Given the description of an element on the screen output the (x, y) to click on. 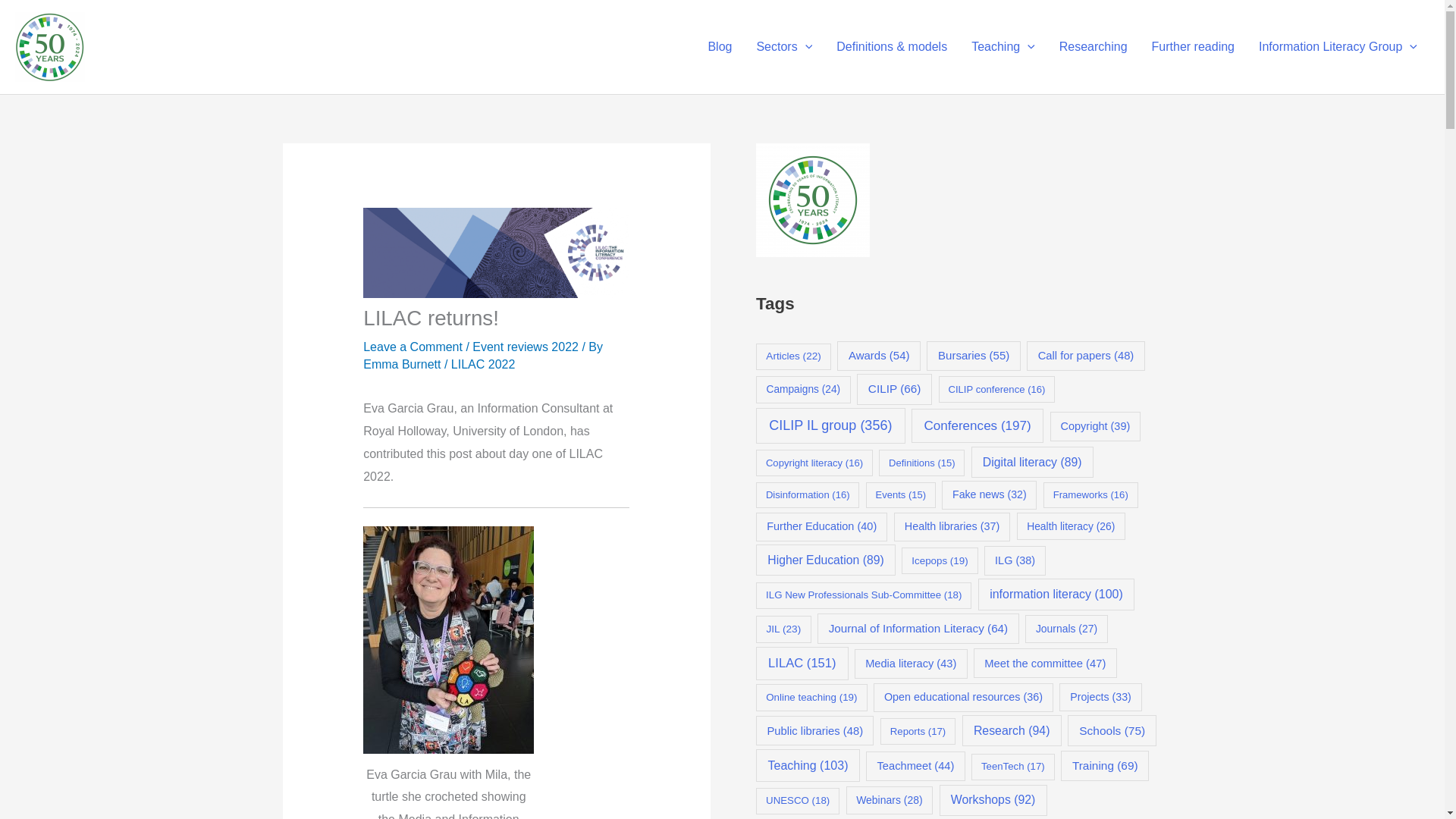
Further reading (1193, 46)
Sectors (784, 46)
View all posts by Emma Burnett (403, 364)
Blog (719, 46)
Researching (1093, 46)
Teaching (1002, 46)
Information Literacy Group (1337, 46)
